Given the description of an element on the screen output the (x, y) to click on. 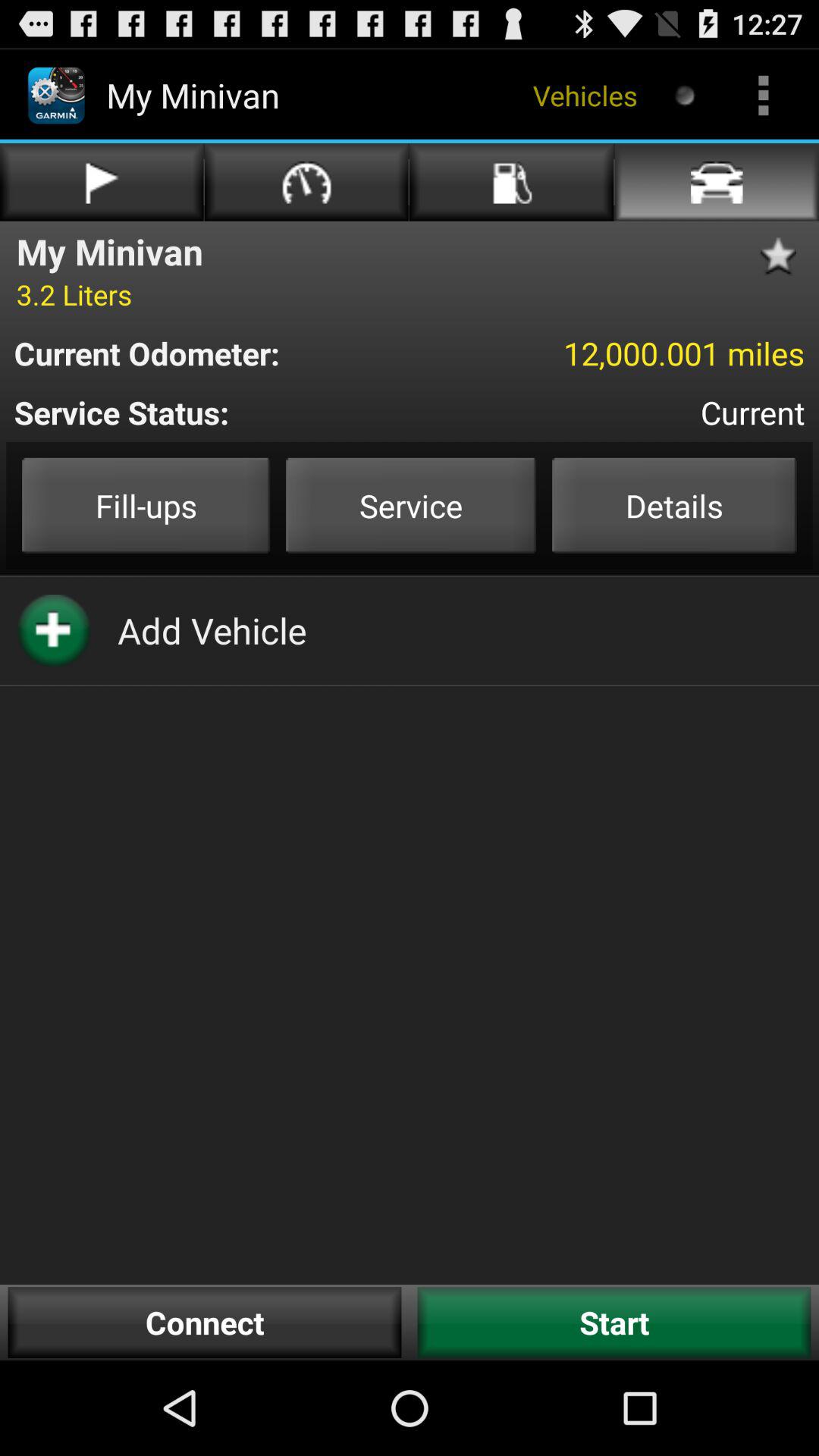
tap the item next to the service (146, 505)
